Given the description of an element on the screen output the (x, y) to click on. 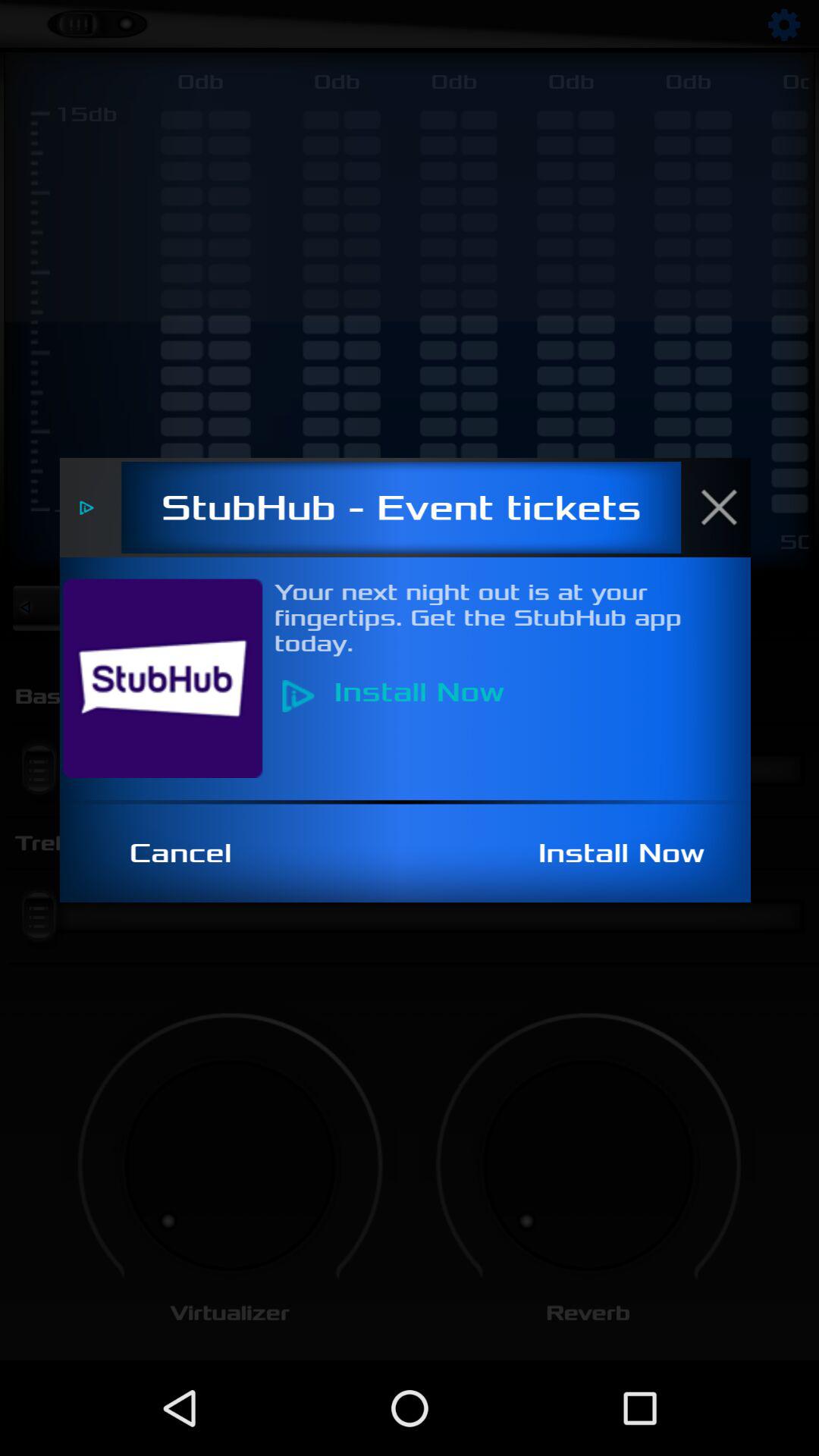
swipe to the cancel icon (188, 853)
